Given the description of an element on the screen output the (x, y) to click on. 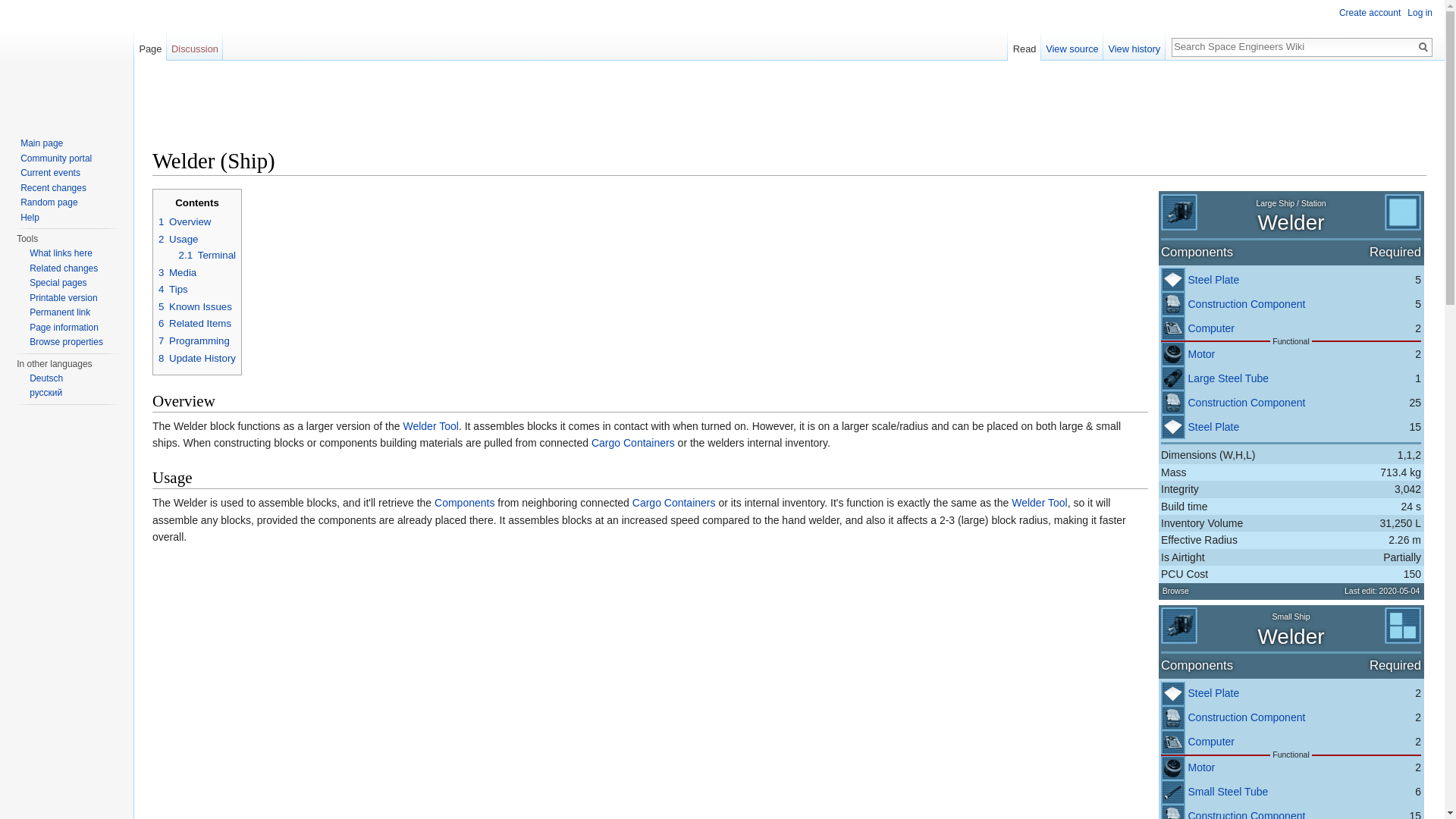
Large Steel Tube (1228, 378)
Steel Plate (1172, 279)
Steel Plate (1172, 426)
Steel Plate (1213, 426)
Construction Component (1172, 402)
2 Usage (178, 238)
Construction Component (1246, 304)
Steel Plate (1213, 693)
Steel Plate (1213, 693)
Motor (1201, 354)
